Given the description of an element on the screen output the (x, y) to click on. 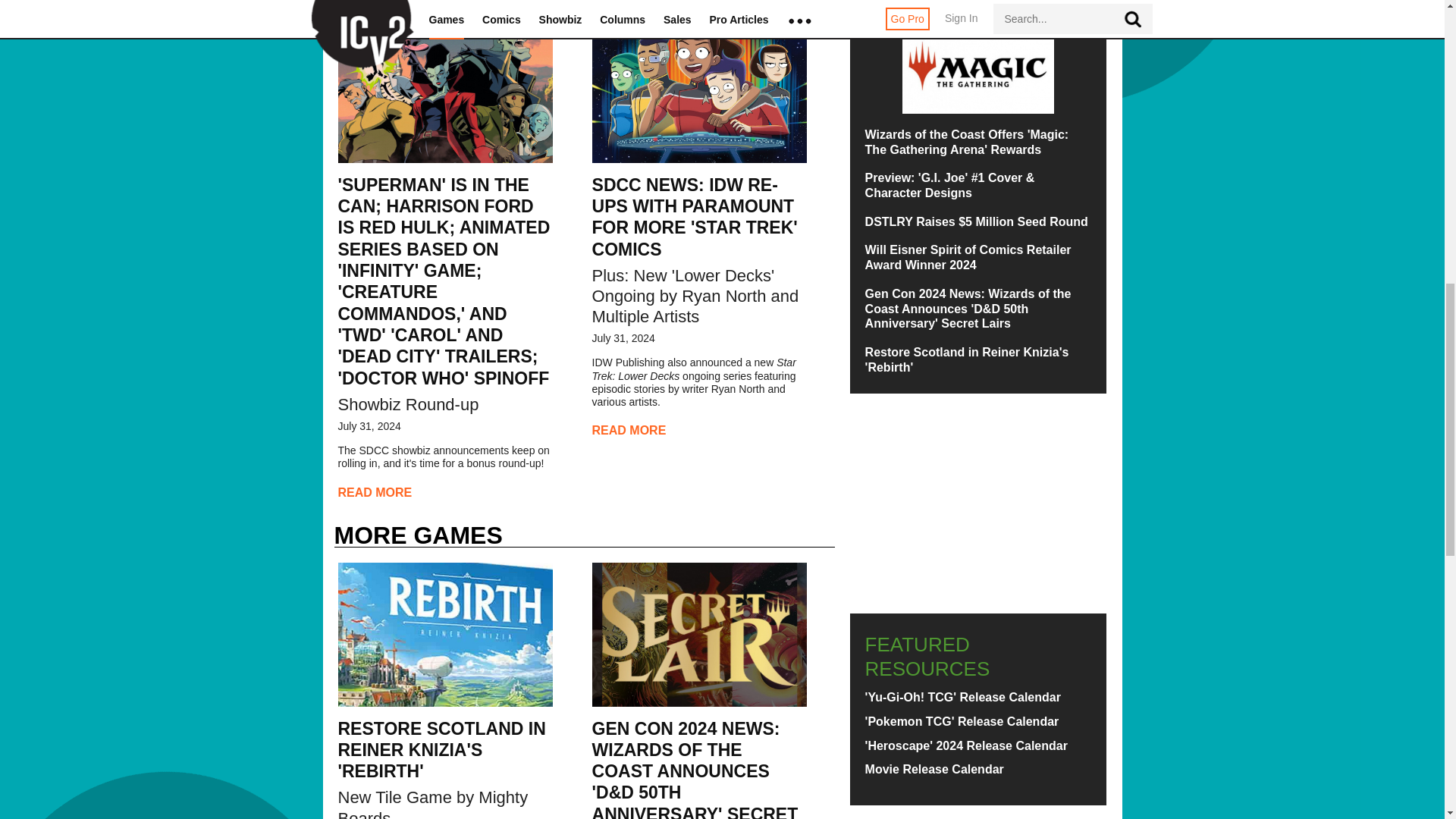
READ MORE (374, 492)
